Given the description of an element on the screen output the (x, y) to click on. 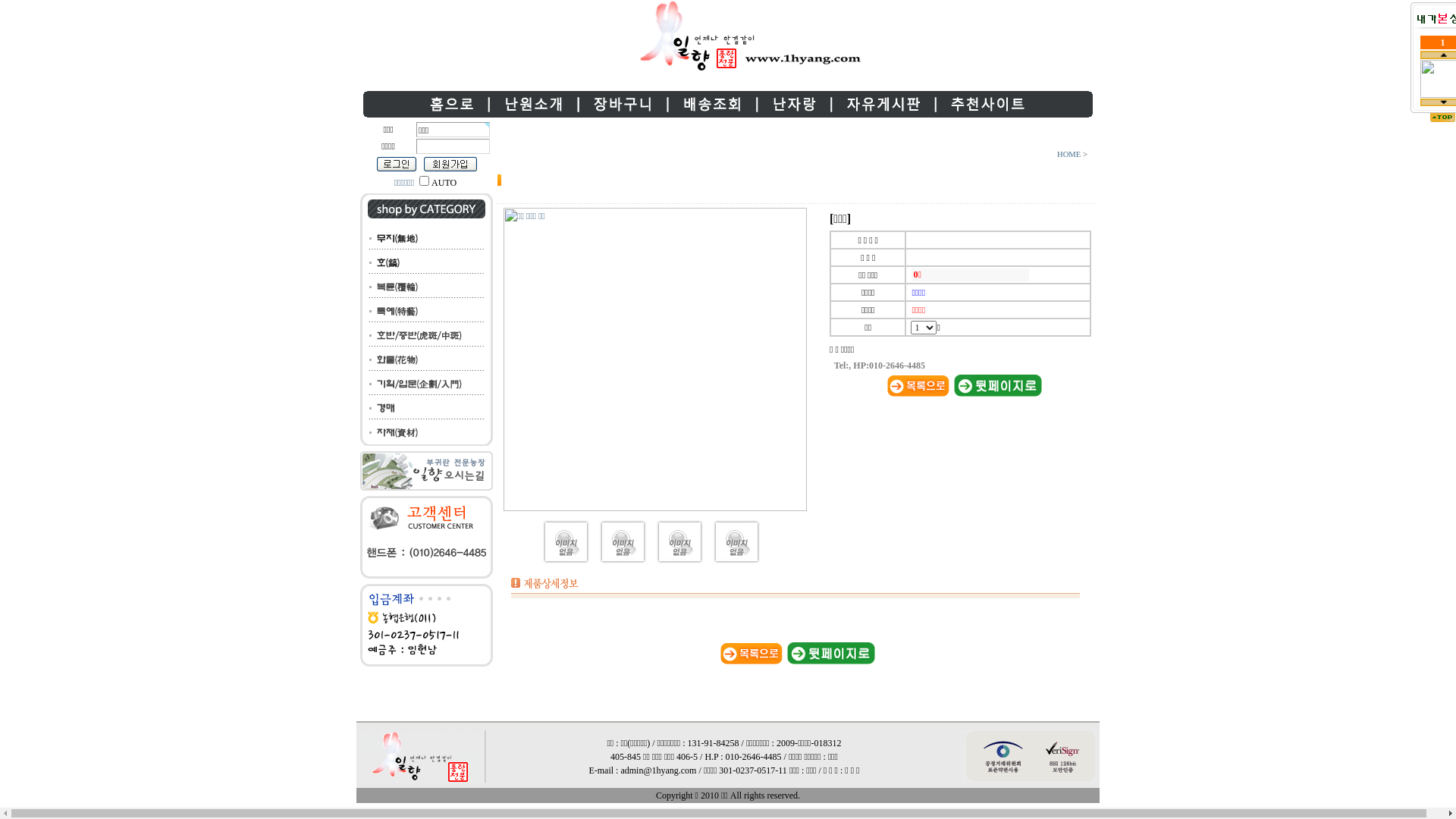
HOME Element type: text (1069, 154)
1 Element type: text (424, 180)
